Given the description of an element on the screen output the (x, y) to click on. 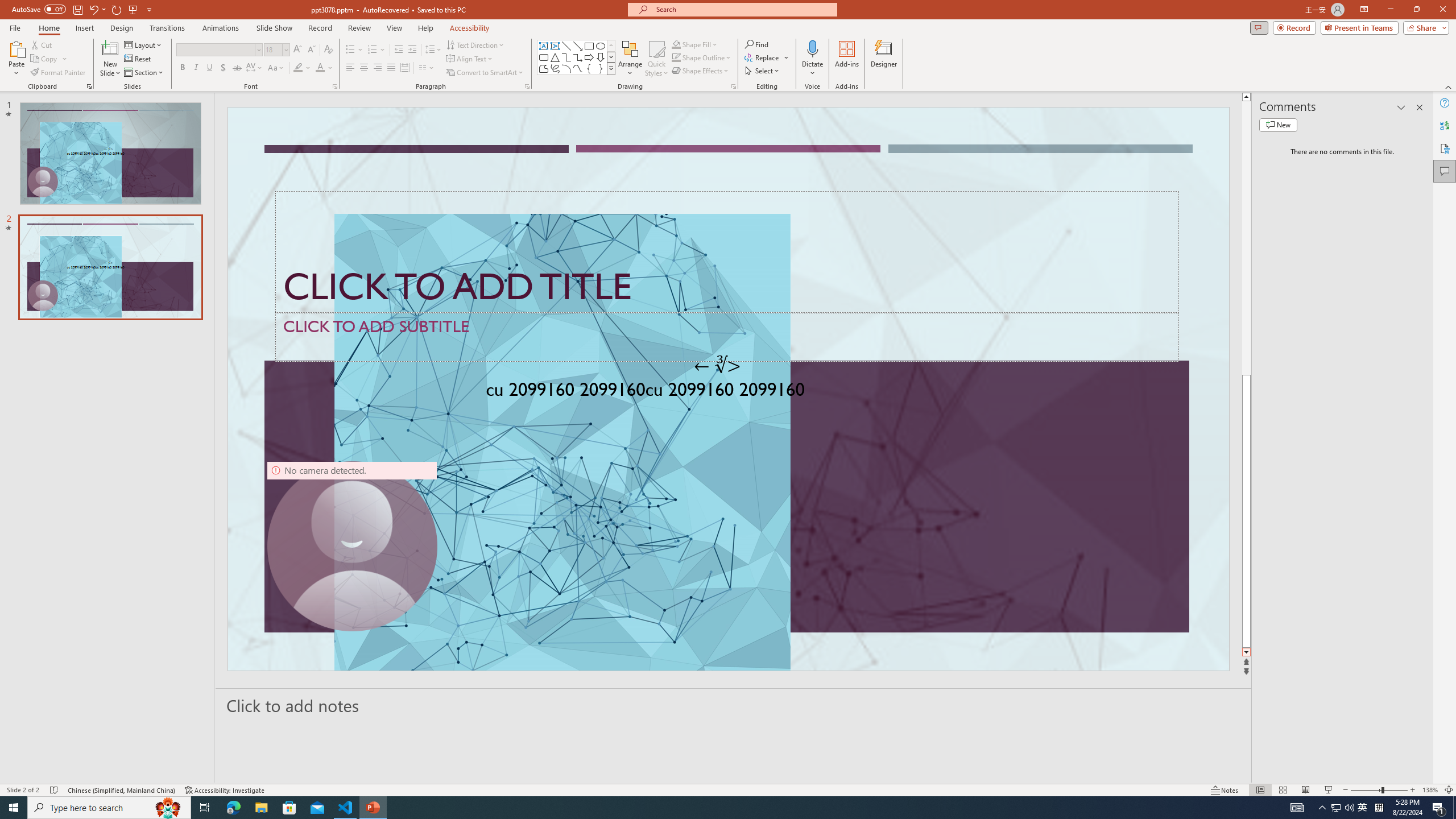
TextBox 7 (717, 364)
